Given the description of an element on the screen output the (x, y) to click on. 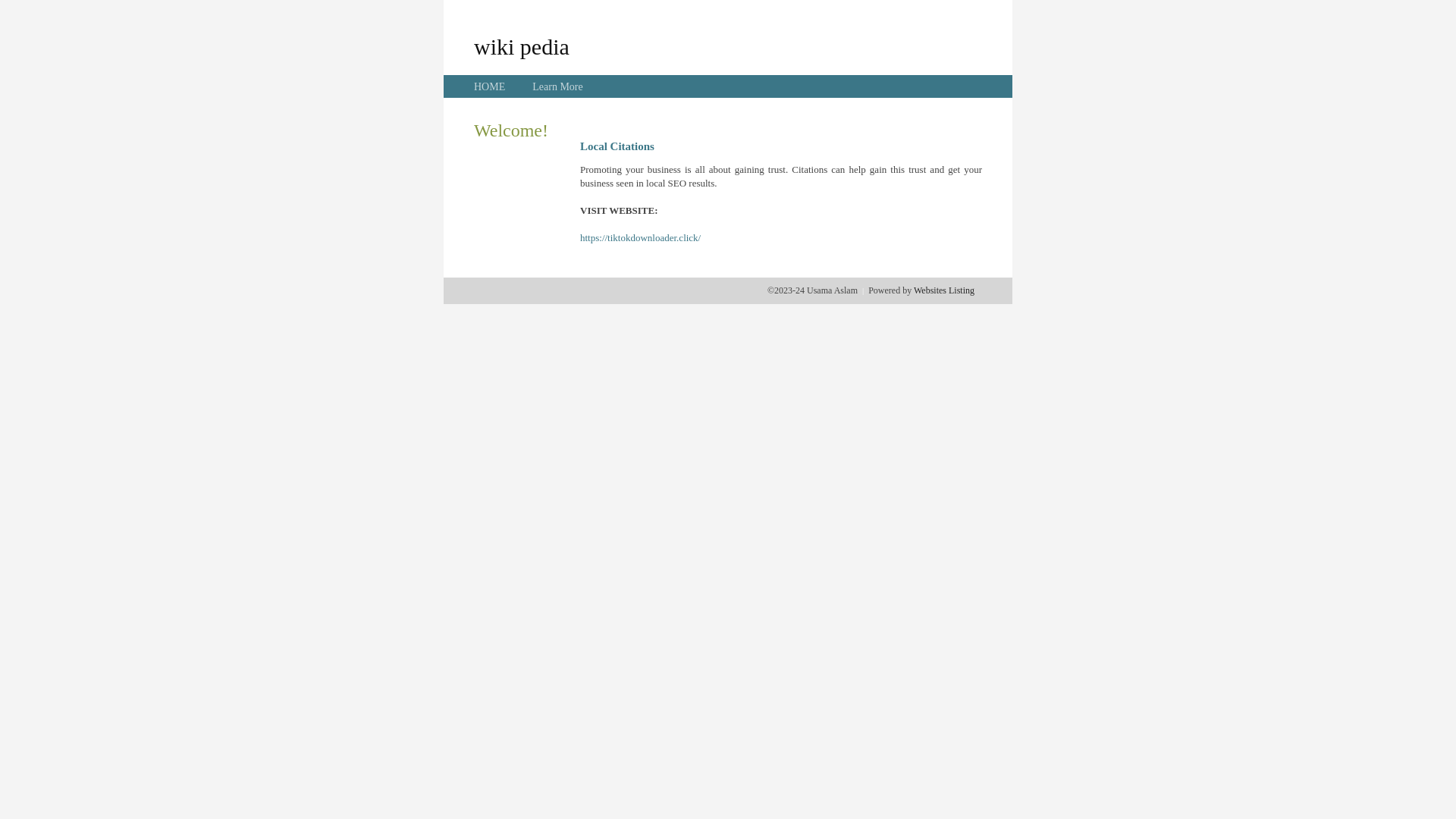
Learn More Element type: text (557, 86)
Websites Listing Element type: text (943, 290)
wiki pedia Element type: text (521, 46)
HOME Element type: text (489, 86)
https://tiktokdownloader.click/ Element type: text (640, 237)
